Given the description of an element on the screen output the (x, y) to click on. 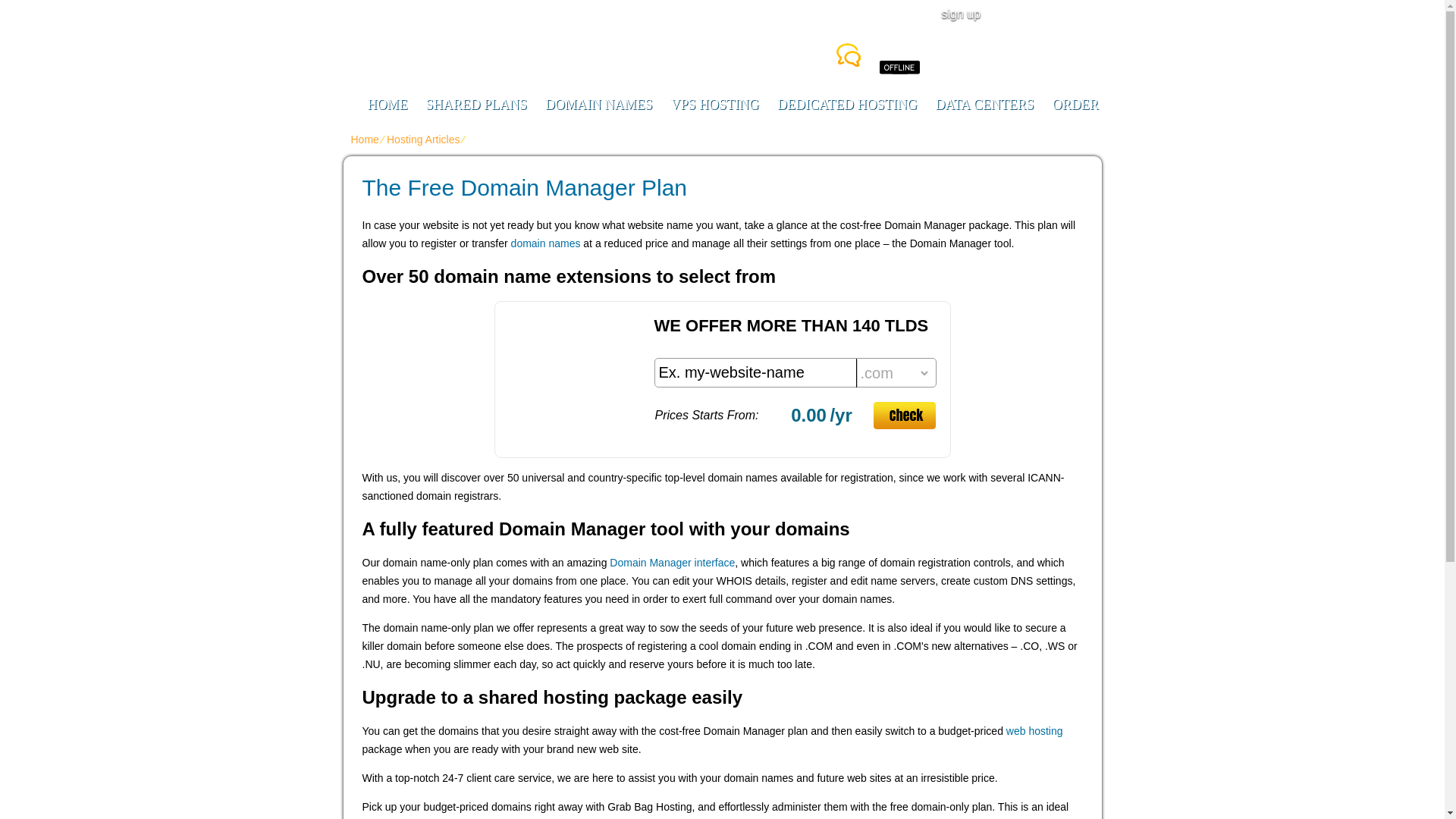
VPS HOSTING (715, 104)
web hosting (1034, 730)
DEDICATED HOSTING (847, 104)
Grab Bag Hosting (598, 33)
Ex. my-website-name (756, 372)
DATA CENTERS (984, 104)
user login (1044, 13)
Home (364, 139)
ORDER (1075, 104)
sign up (946, 13)
DOMAIN NAMES (598, 104)
SHARED PLANS (476, 104)
text (756, 372)
HOME (387, 104)
client login (1044, 13)
